Given the description of an element on the screen output the (x, y) to click on. 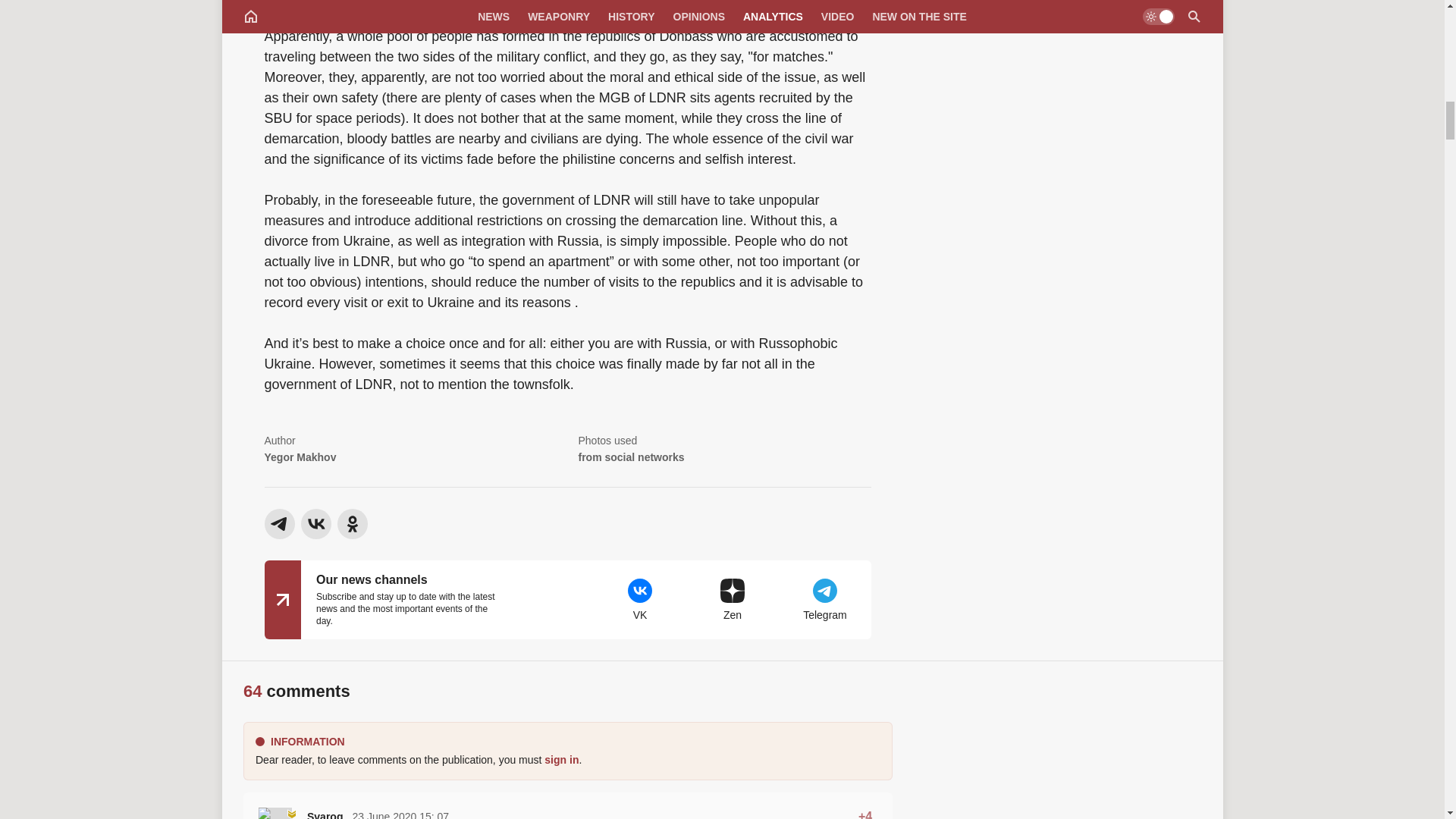
Photos used (724, 450)
Author (409, 450)
Share on VK (314, 523)
Share on Telegram (278, 523)
